Given the description of an element on the screen output the (x, y) to click on. 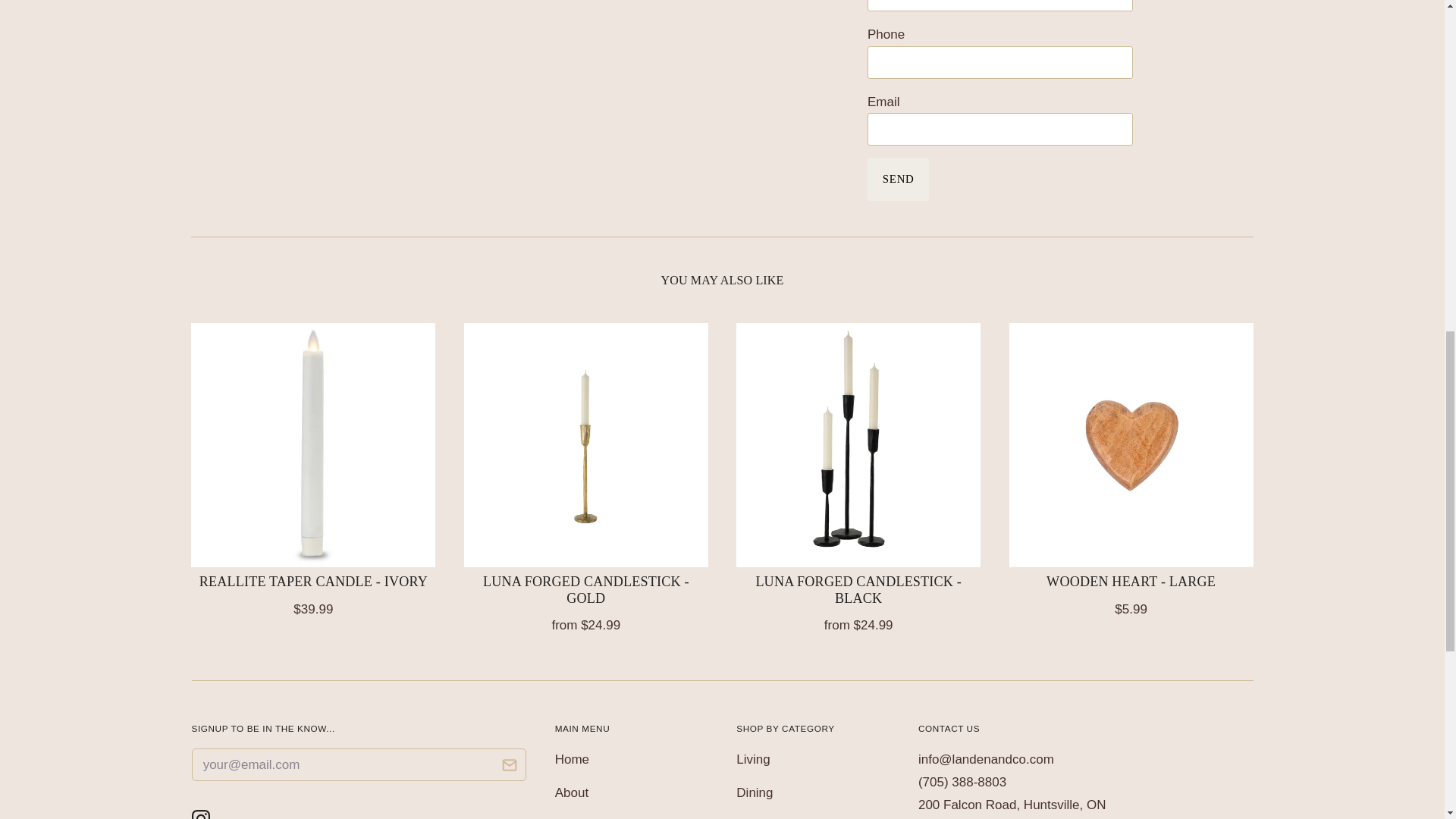
Send (897, 179)
